Given the description of an element on the screen output the (x, y) to click on. 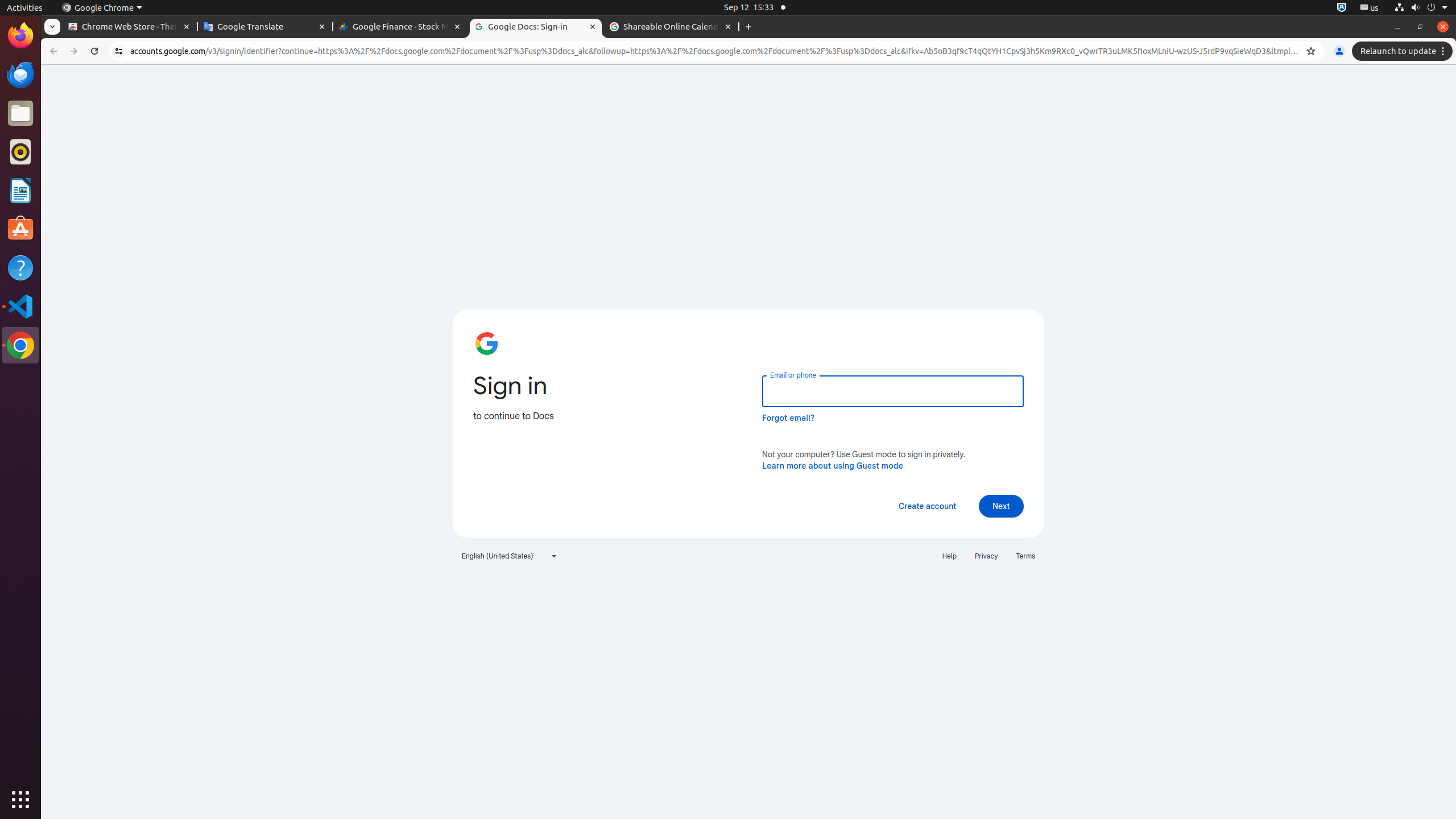
Google Chrome Element type: menu (101, 7)
Help Element type: push-button (20, 267)
Bookmark this tab Element type: push-button (1310, 51)
Terms Element type: link (1024, 556)
System Element type: menu (1420, 7)
